Given the description of an element on the screen output the (x, y) to click on. 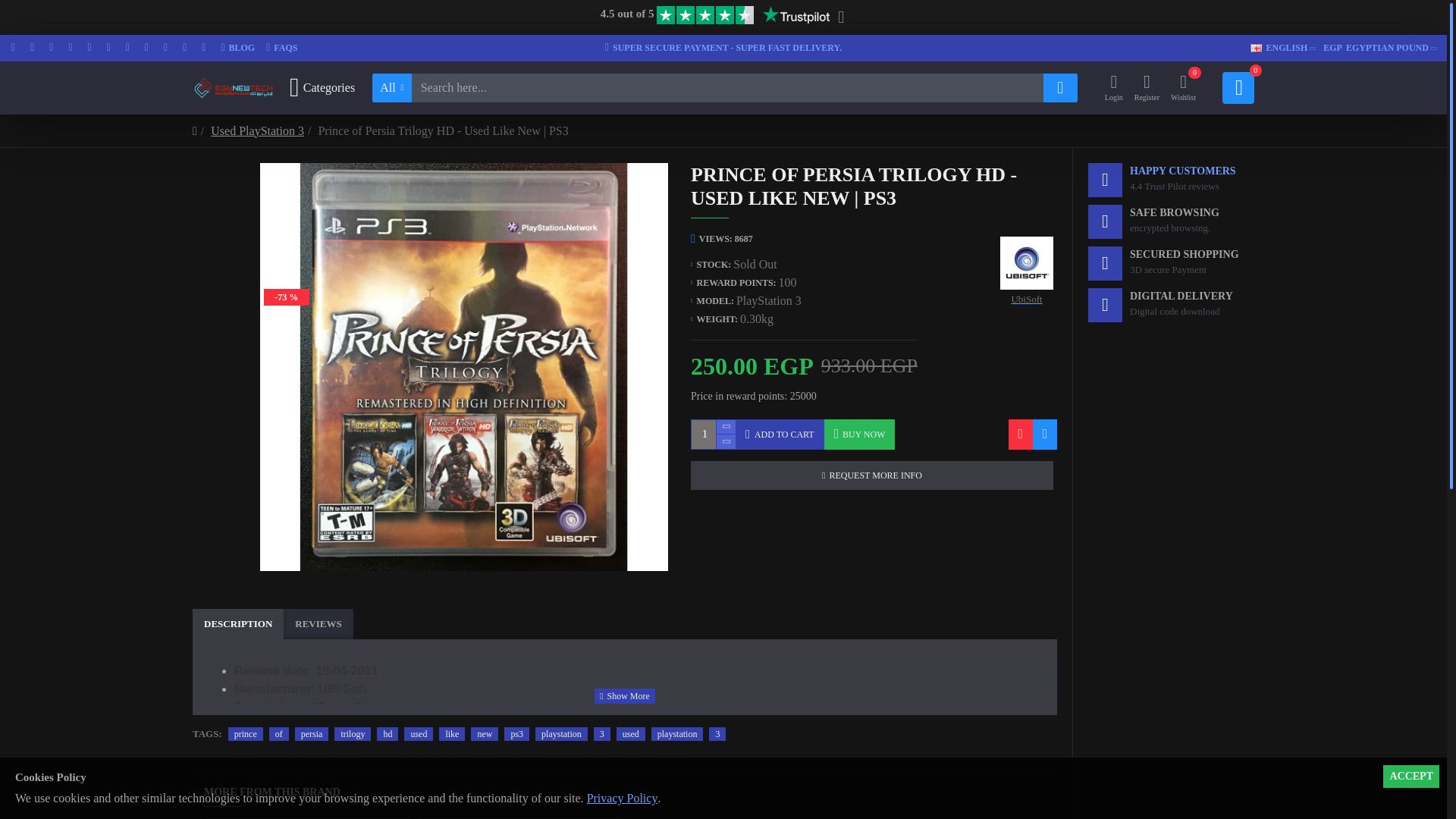
ENGLISH (1375, 47)
SUPER SECURE PAYMENT - SUPER FAST DELIVERY. (1278, 47)
FAQS (723, 48)
English (281, 48)
1 (1256, 48)
Categories (713, 434)
BLOG (322, 87)
EgyNewTech (237, 48)
